Given the description of an element on the screen output the (x, y) to click on. 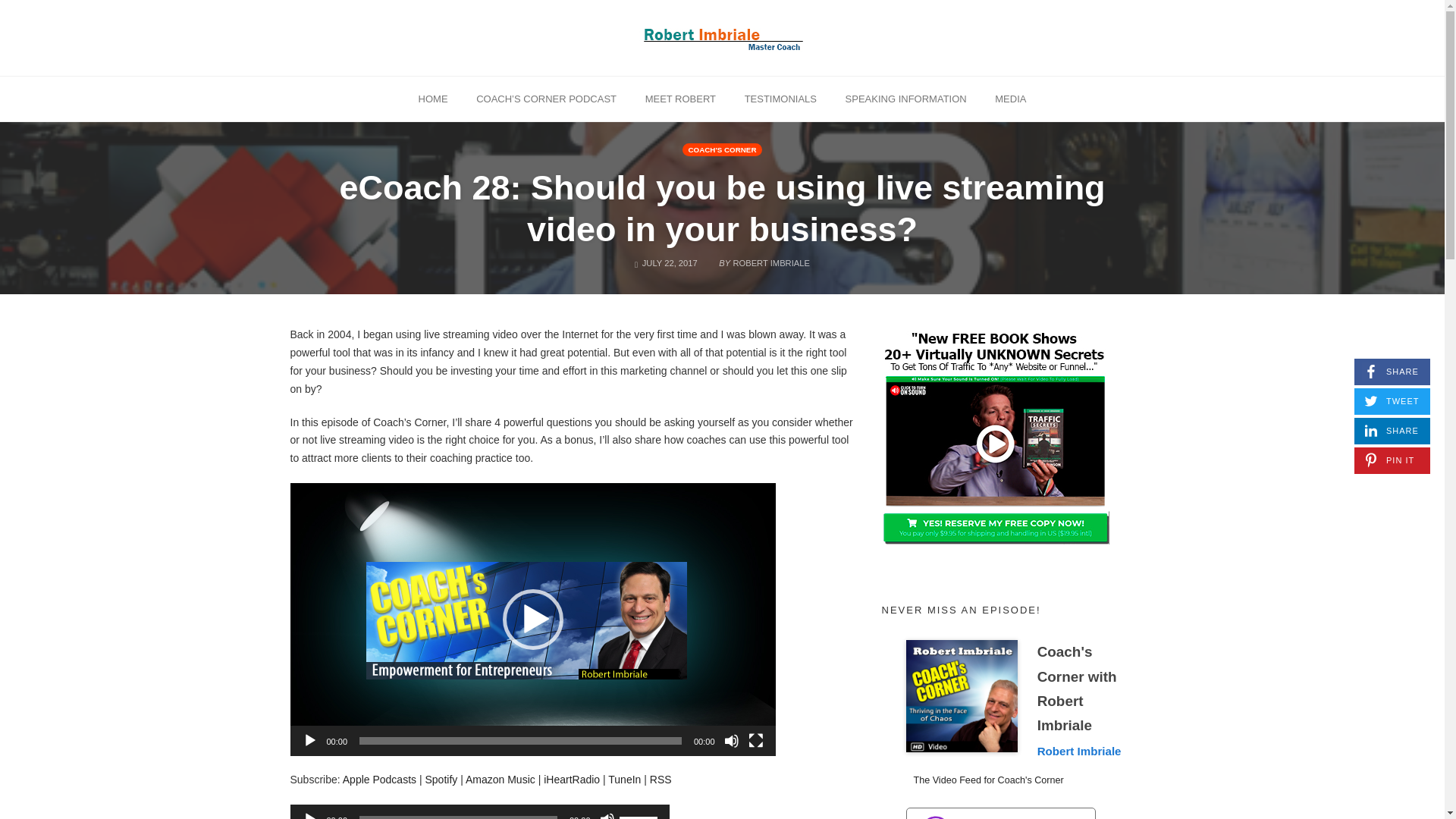
TuneIn (624, 779)
SPEAKING INFORMATION (906, 97)
TESTIMONIALS (780, 97)
HOME (433, 97)
iHeartRadio (571, 779)
Subscribe on Apple Podcasts (379, 779)
Spotify (441, 779)
MEDIA (1391, 371)
Subscribe via RSS (1010, 97)
Amazon Music (660, 779)
COACH'S CORNER (500, 779)
BY ROBERT IMBRIALE (722, 149)
Subscribe on TuneIn (762, 258)
